Given the description of an element on the screen output the (x, y) to click on. 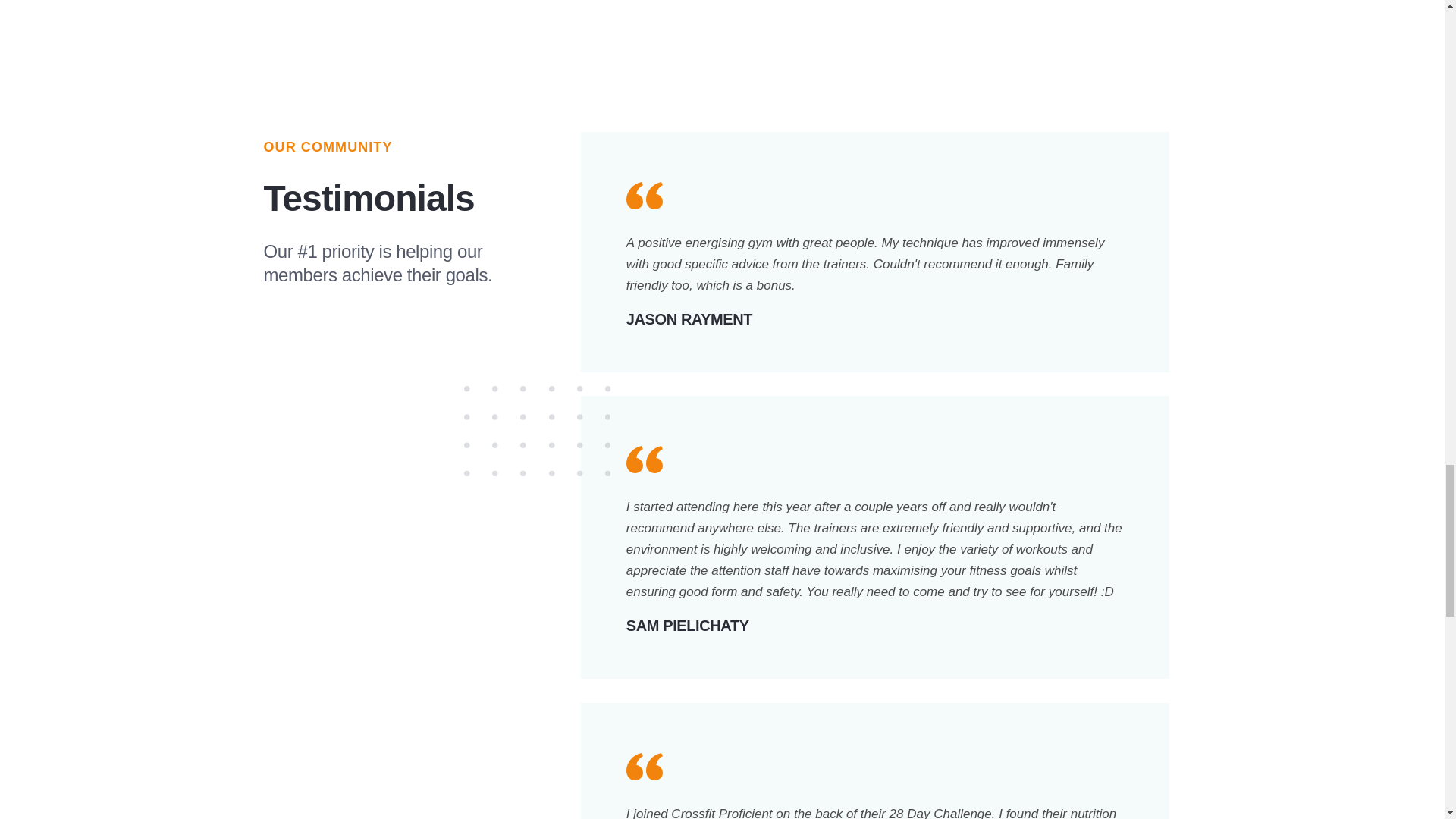
Group Training (240, 27)
Personal Training (722, 27)
Nutrition (1204, 27)
